Given the description of an element on the screen output the (x, y) to click on. 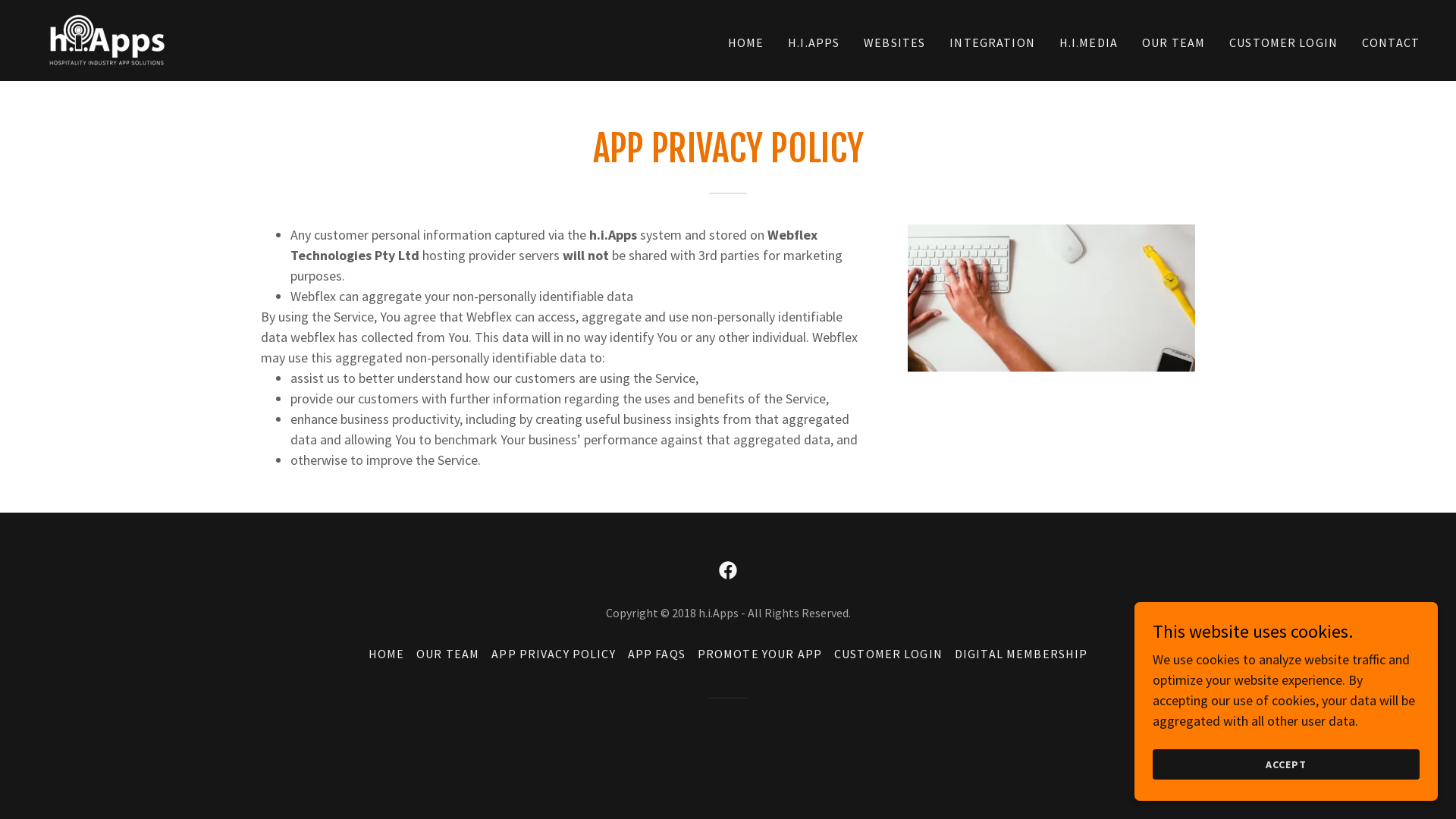
OUR TEAM Element type: text (447, 653)
APP FAQS Element type: text (656, 653)
H.I.MEDIA Element type: text (1088, 42)
HOME Element type: text (386, 653)
APP PRIVACY POLICY Element type: text (553, 653)
CUSTOMER LOGIN Element type: text (1283, 42)
HOME Element type: text (745, 42)
INTEGRATION Element type: text (991, 42)
WEBSITES Element type: text (894, 42)
CUSTOMER LOGIN Element type: text (888, 653)
H.I.APPS Element type: text (813, 42)
DIGITAL MEMBERSHIP Element type: text (1020, 653)
CONTACT Element type: text (1390, 42)
ACCEPT Element type: text (1285, 764)
OUR TEAM Element type: text (1173, 42)
PROMOTE YOUR APP Element type: text (759, 653)
